Given the description of an element on the screen output the (x, y) to click on. 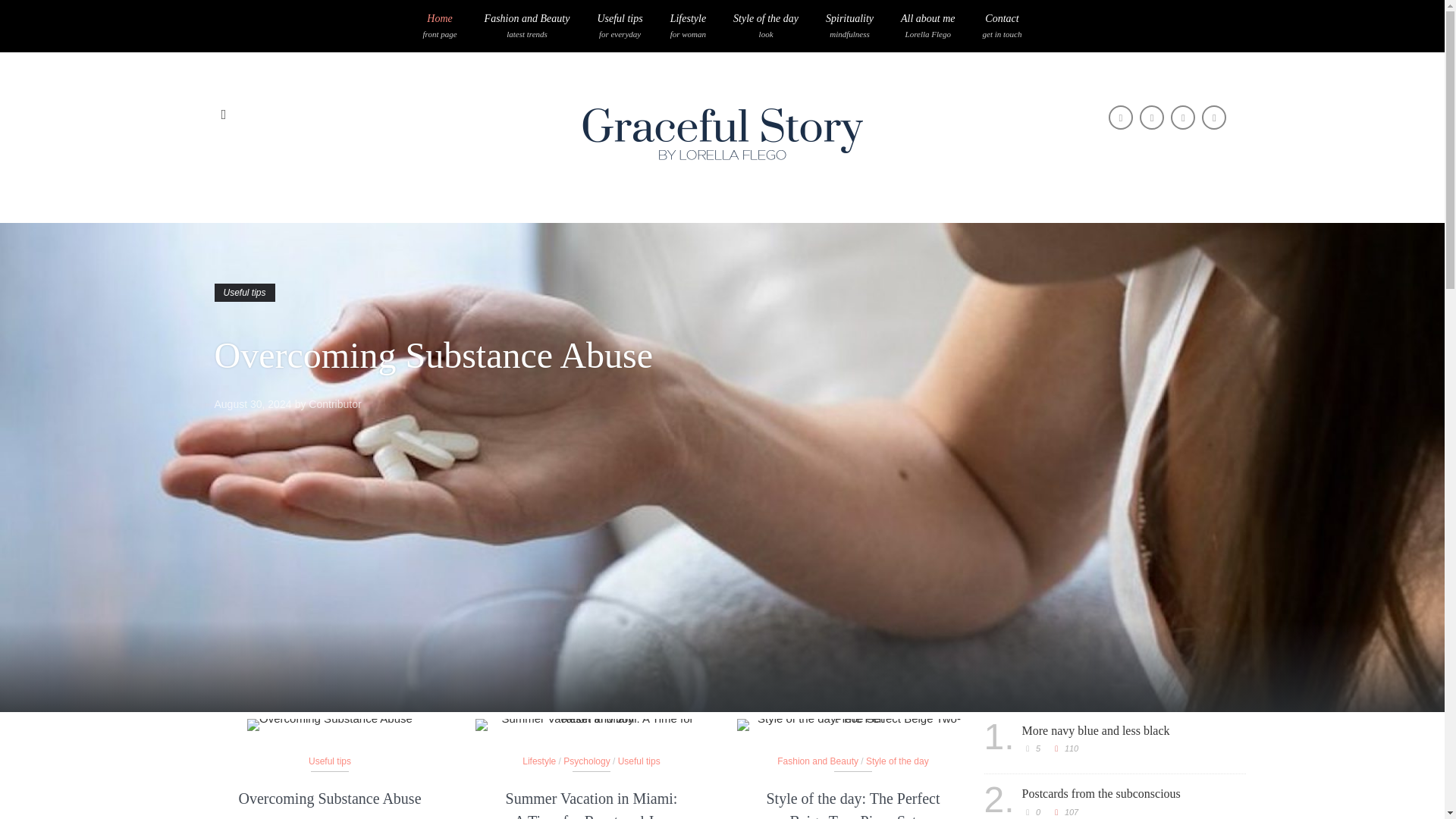
Overcoming Substance Abuse (433, 354)
Useful tips (619, 26)
Search (244, 292)
